Given the description of an element on the screen output the (x, y) to click on. 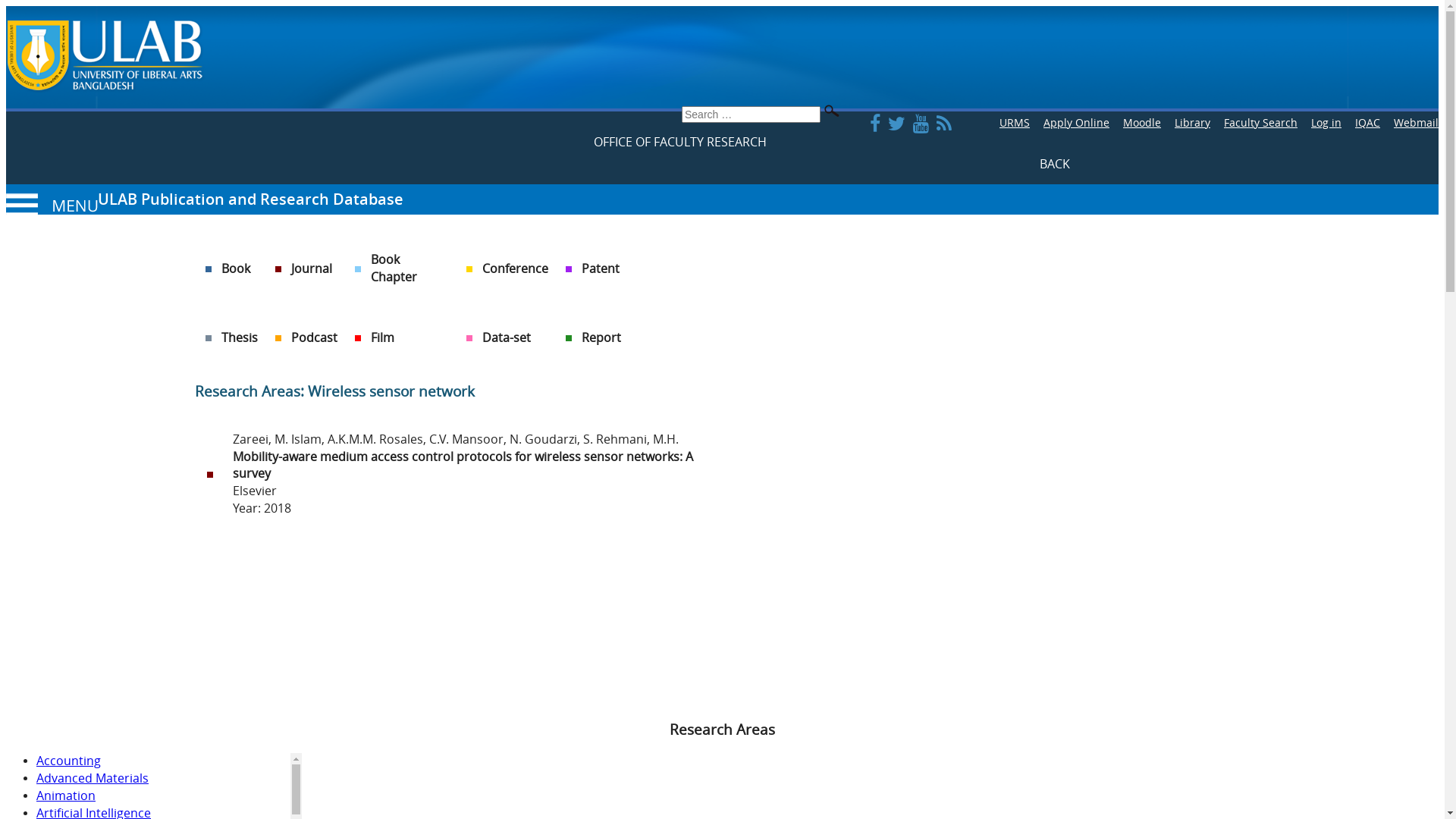
Moodle Element type: text (1142, 122)
IQAC Element type: text (1367, 122)
Advanced Materials Element type: text (92, 778)
Accounting Element type: text (68, 760)
Faculty Search Element type: text (1260, 122)
Log in Element type: text (1326, 122)
OFFICE OF FACULTY RESEARCH Element type: text (679, 141)
Library Element type: text (1192, 122)
Apply Online Element type: text (1076, 122)
BACK Element type: text (1053, 164)
Search for: Element type: hover (750, 114)
Webmail Element type: text (1415, 122)
URMS Element type: text (1014, 122)
Animation Element type: text (65, 795)
menu Element type: text (51, 205)
